Given the description of an element on the screen output the (x, y) to click on. 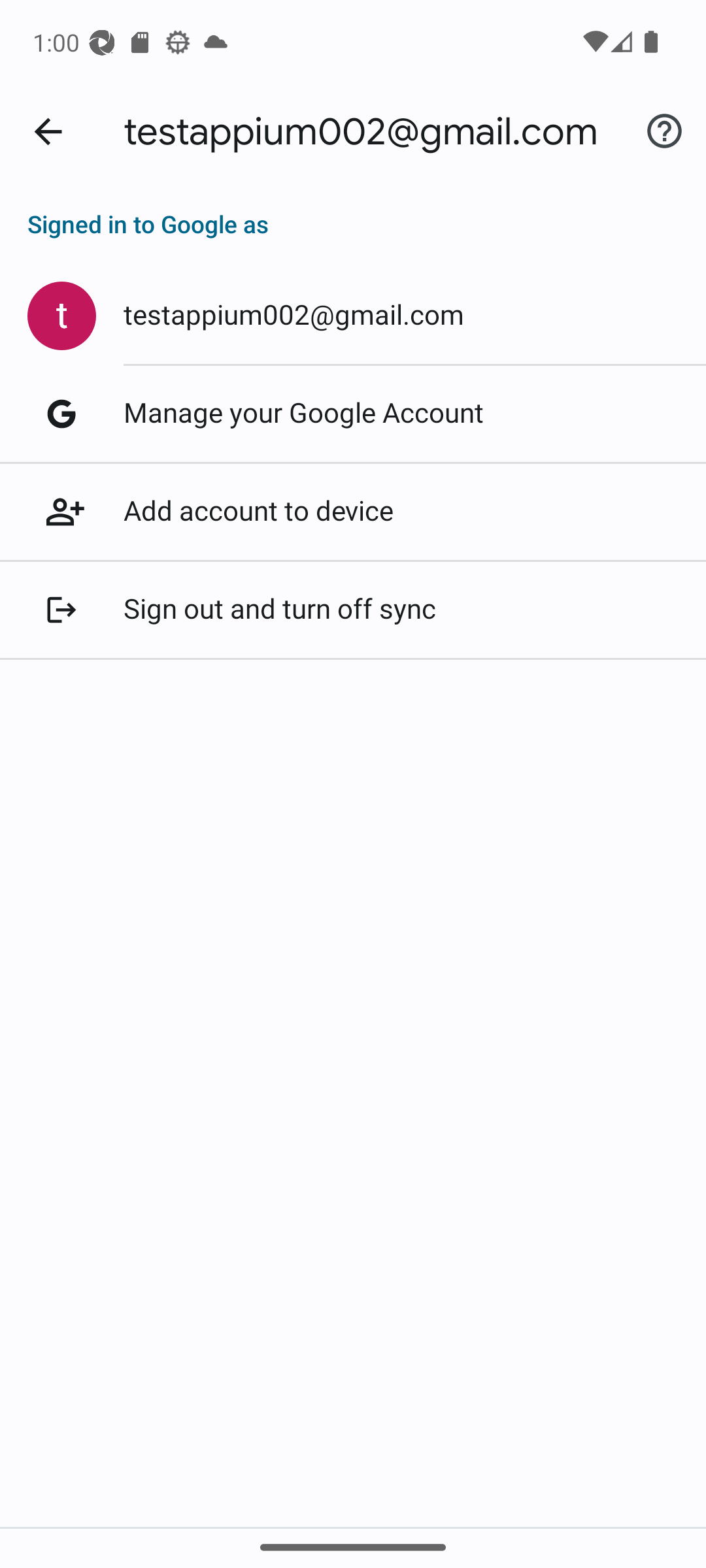
Navigate up (48, 131)
Help & feedback (664, 131)
testappium002@gmail.com (353, 315)
Manage your Google Account (353, 413)
Add account to device (353, 511)
Sign out and turn off sync (353, 609)
